Given the description of an element on the screen output the (x, y) to click on. 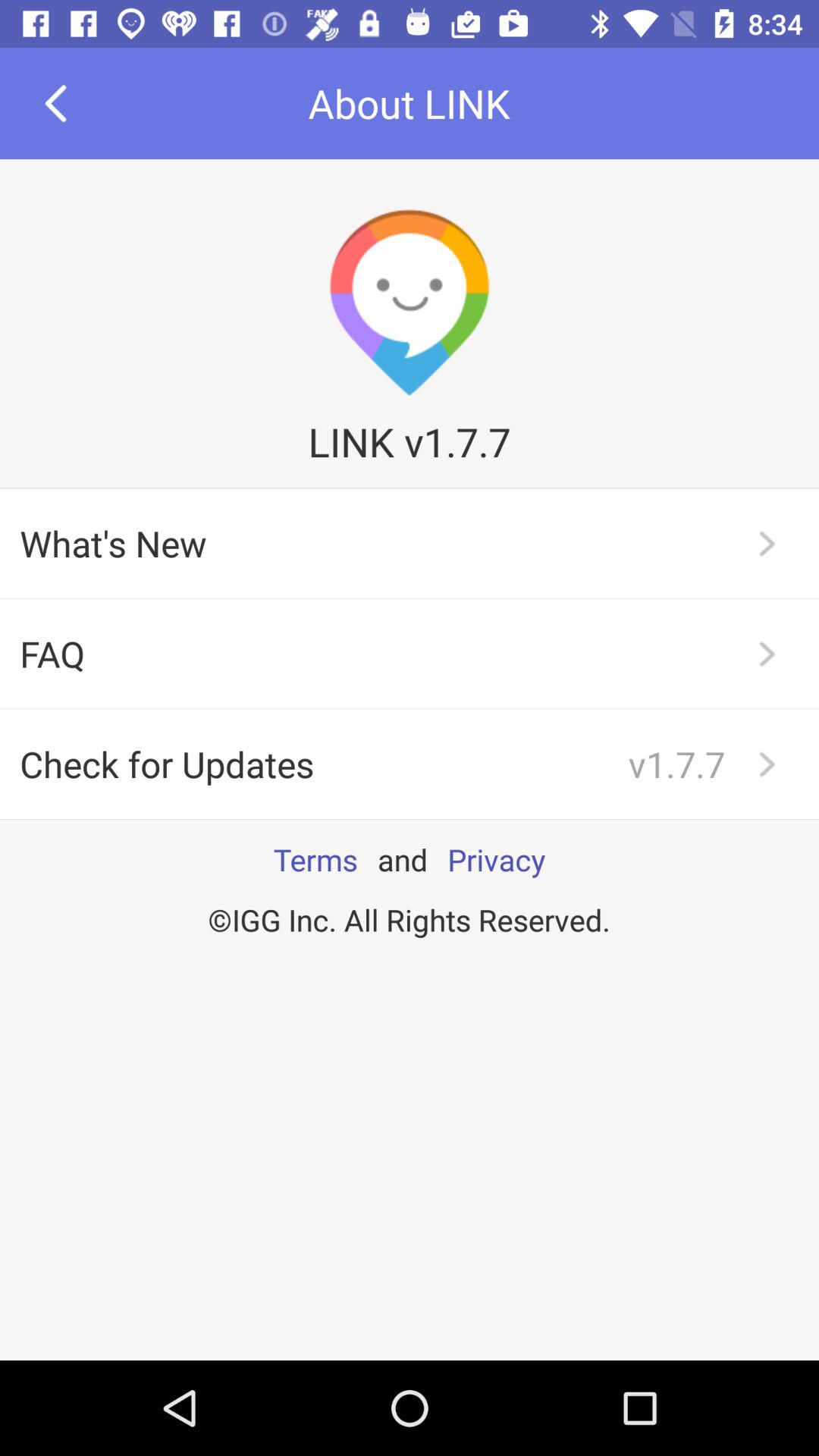
click the icon below the what's new app (409, 653)
